Given the description of an element on the screen output the (x, y) to click on. 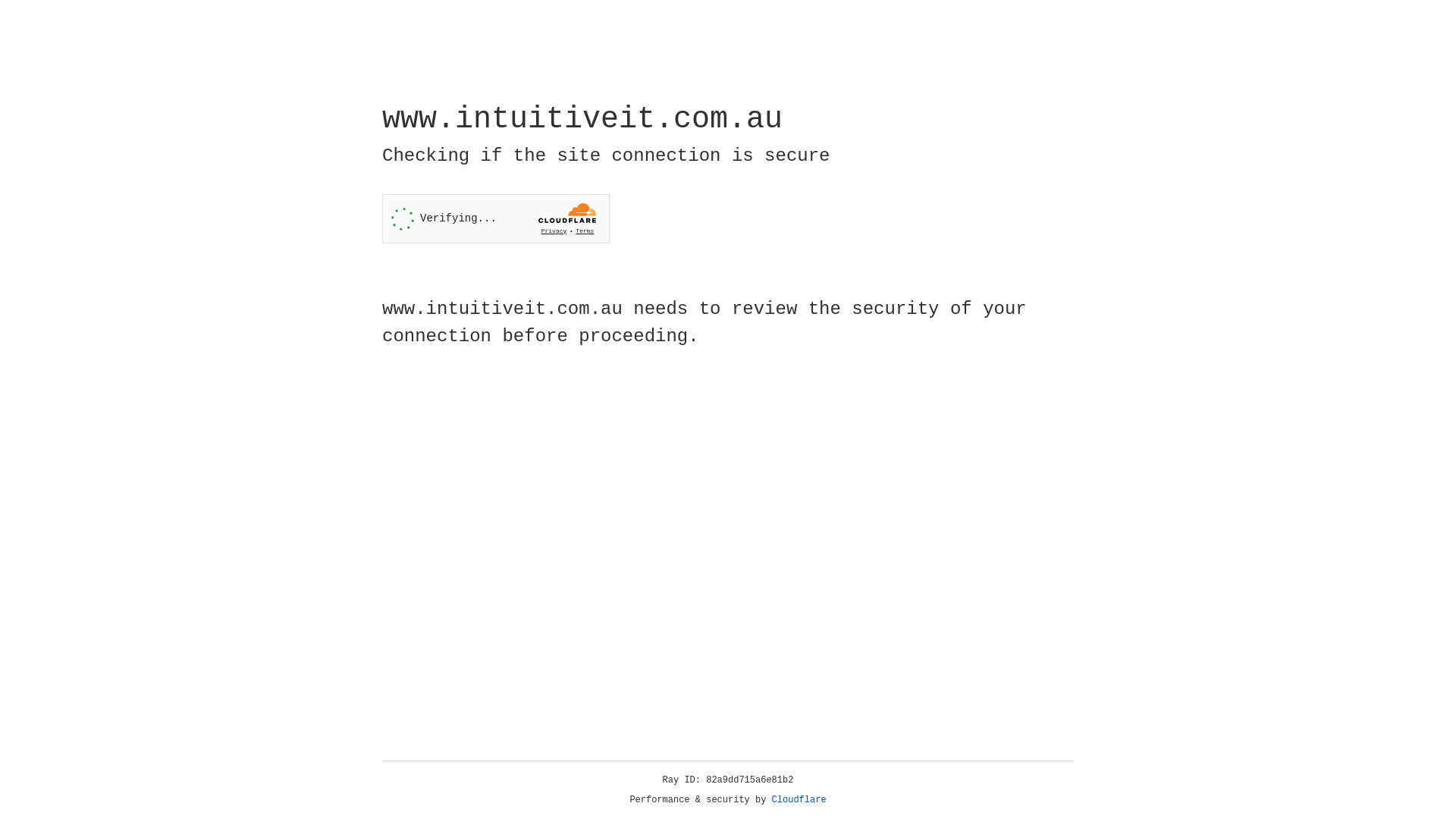
Widget containing a Cloudflare security challenge Element type: hover (495, 218)
Cloudflare Element type: text (798, 799)
